Given the description of an element on the screen output the (x, y) to click on. 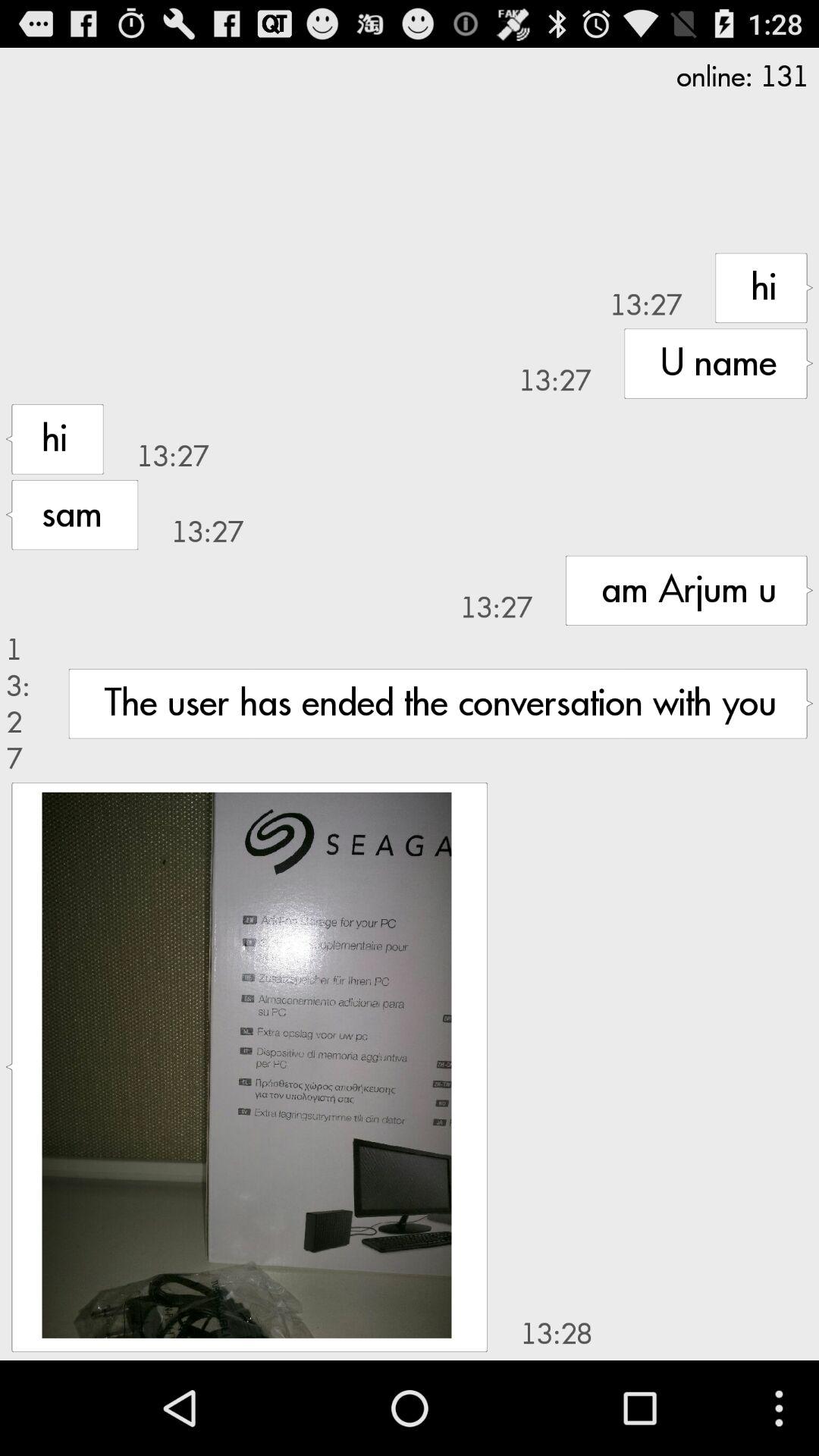
select the app to the left of the 13:28 item (246, 1065)
